Given the description of an element on the screen output the (x, y) to click on. 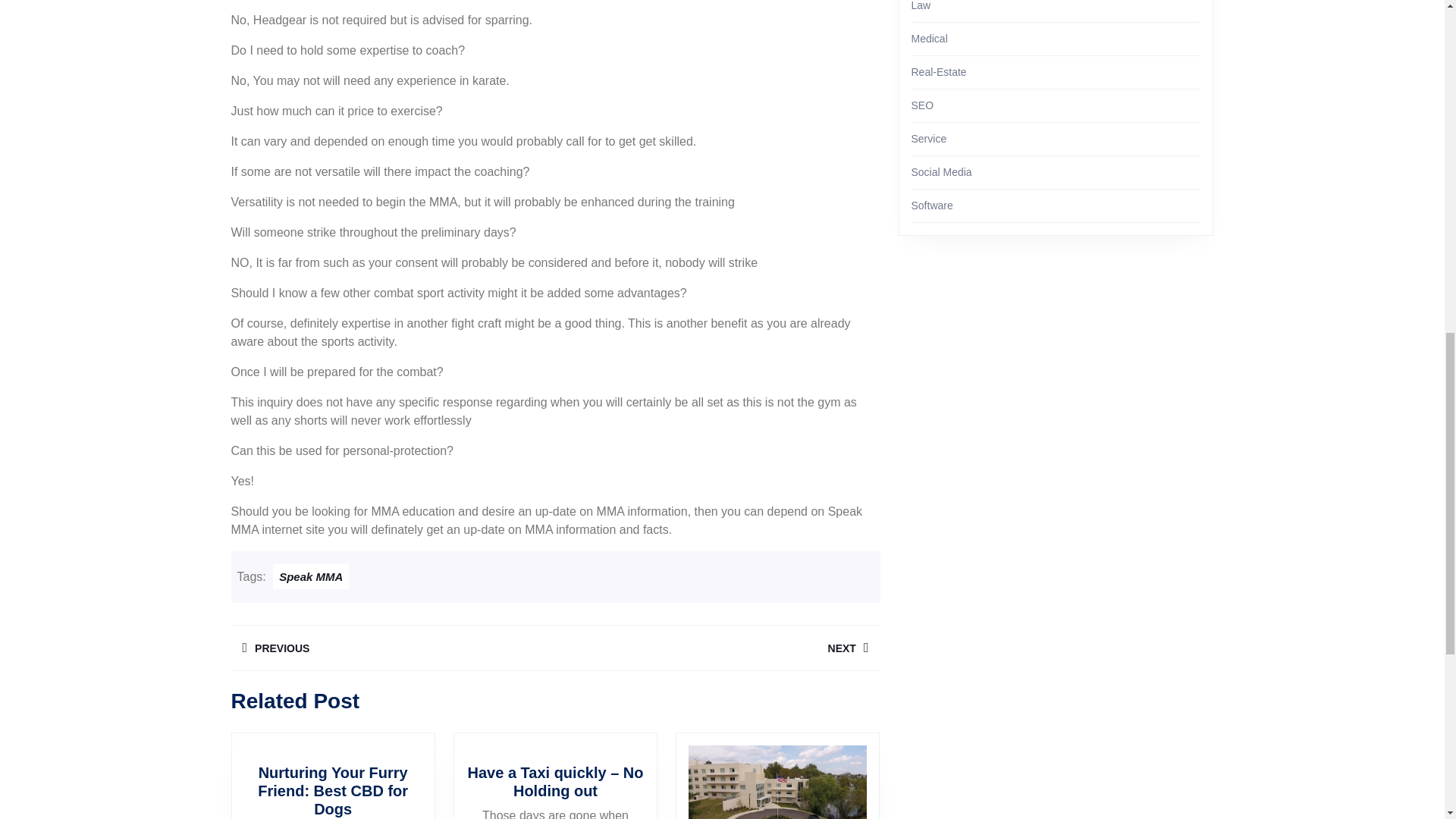
Law (392, 647)
Speak MMA (921, 5)
Medical (716, 647)
